Given the description of an element on the screen output the (x, y) to click on. 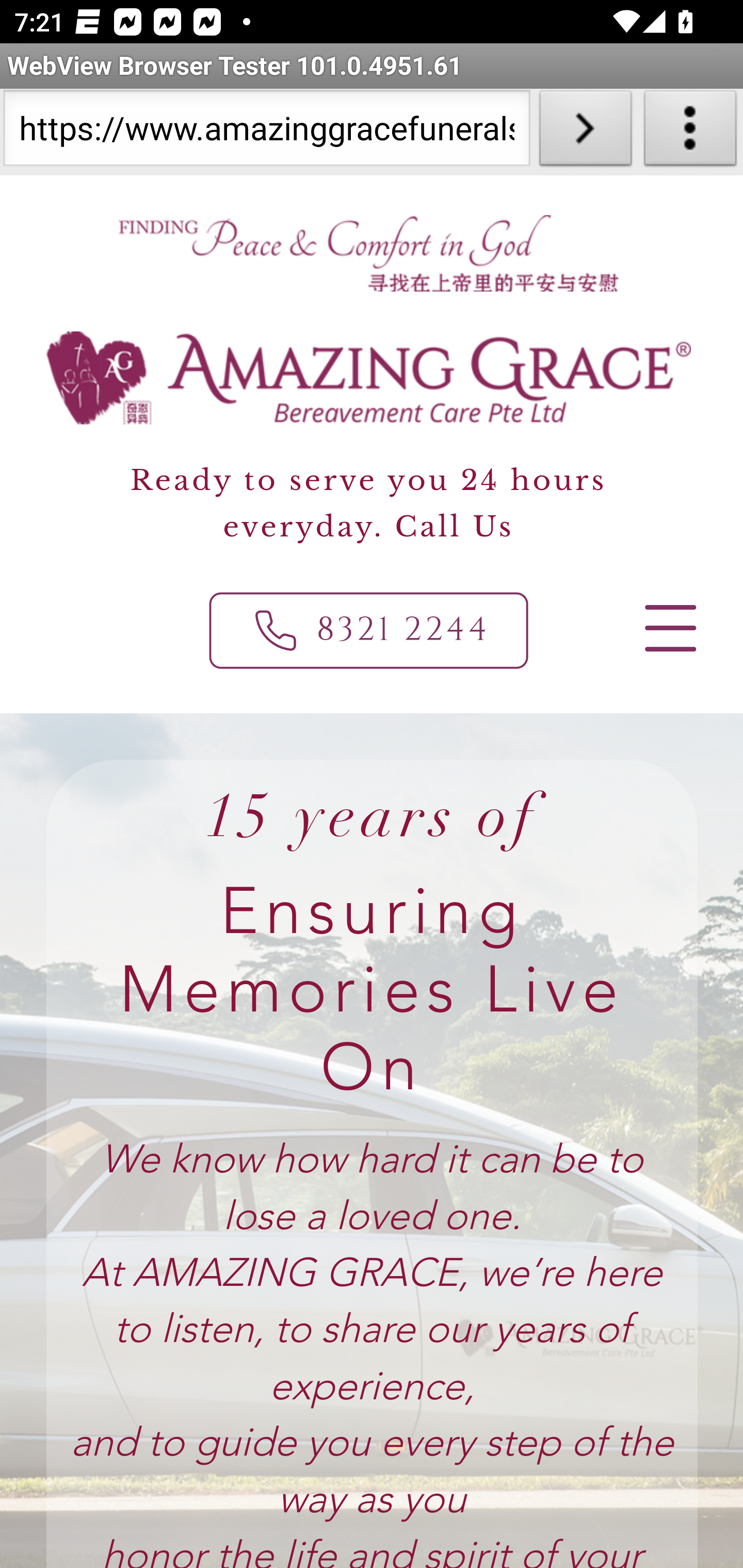
Load URL (585, 132)
About WebView (690, 132)
AG_H5 Finding God_edited.png (366, 253)
AG_H1 Logo Name_edited.png (369, 377)
Open navigation menu (669, 627)
8321 2244 (368, 630)
